Given the description of an element on the screen output the (x, y) to click on. 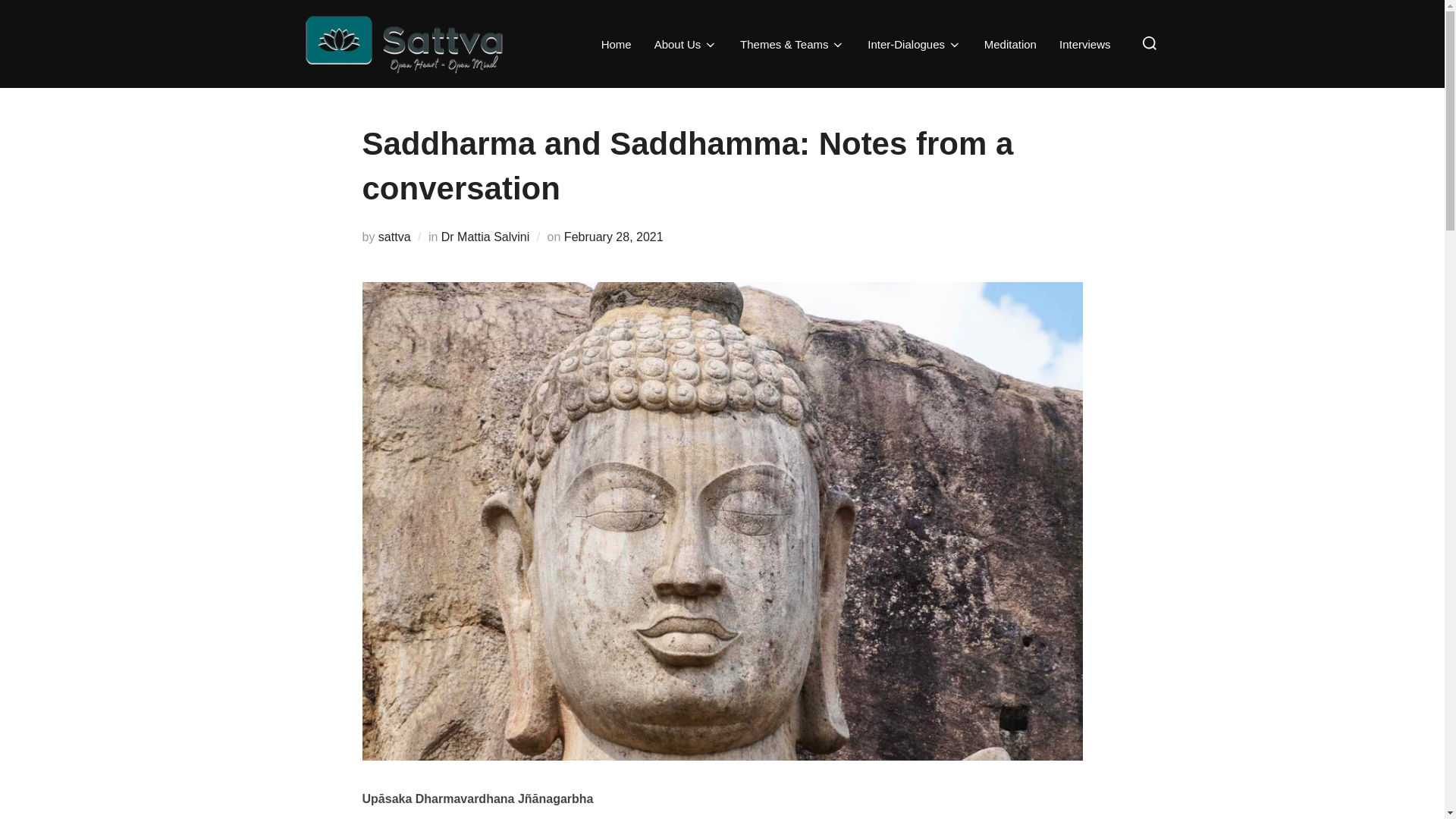
Inter-Dialogues (913, 43)
Home (616, 43)
About Us (685, 43)
